Given the description of an element on the screen output the (x, y) to click on. 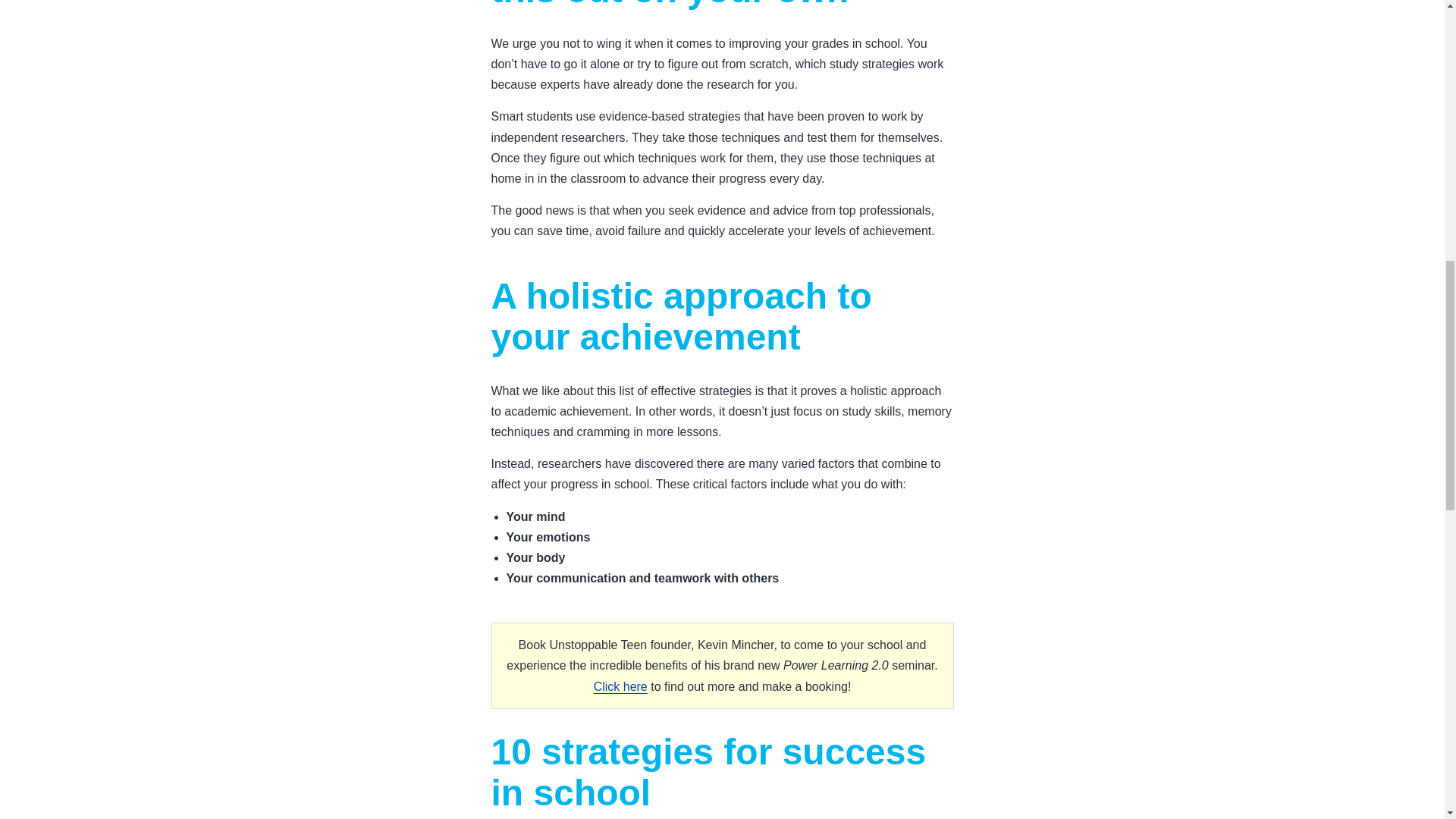
Click here (620, 686)
